Given the description of an element on the screen output the (x, y) to click on. 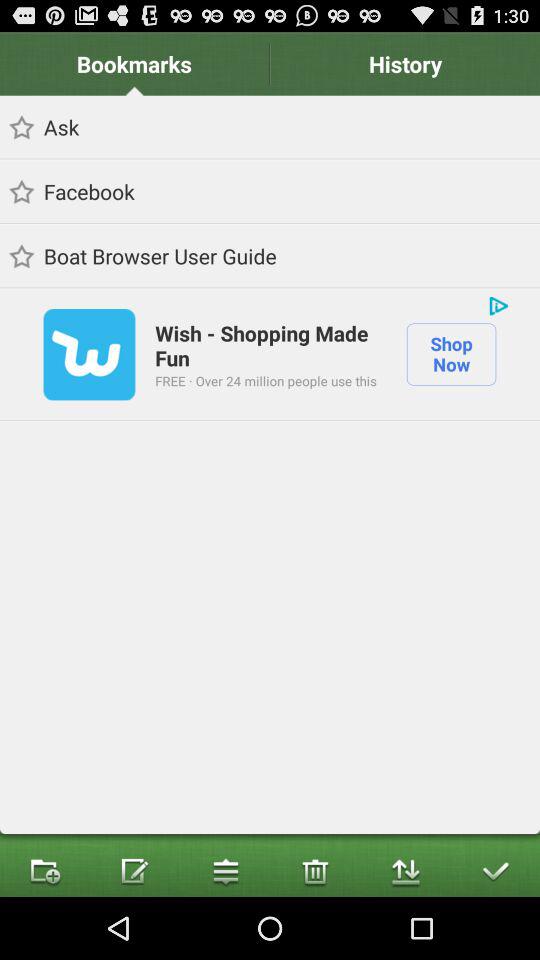
press the item below boat browser user app (498, 305)
